Given the description of an element on the screen output the (x, y) to click on. 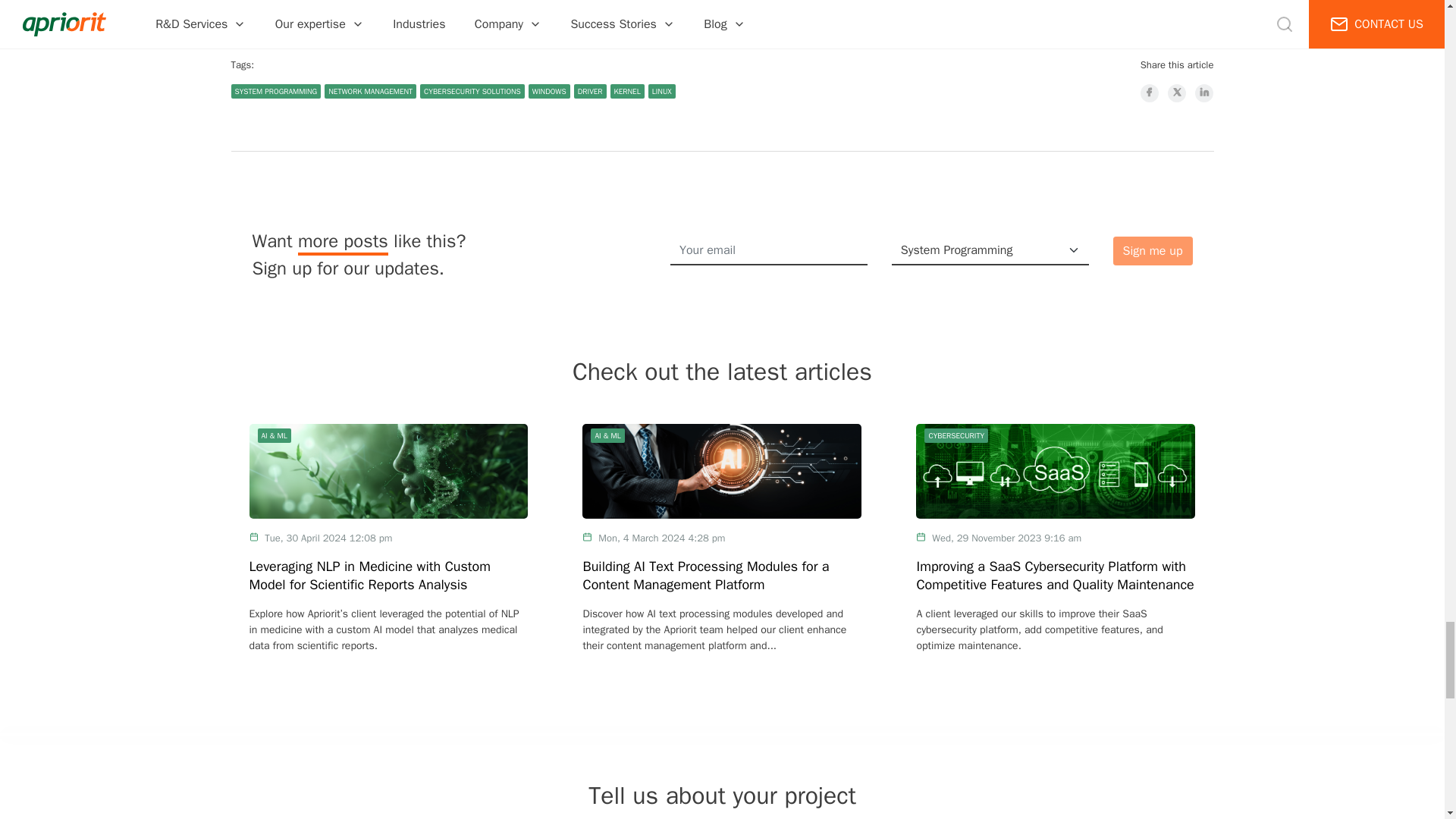
Sign me up (1152, 250)
